Given the description of an element on the screen output the (x, y) to click on. 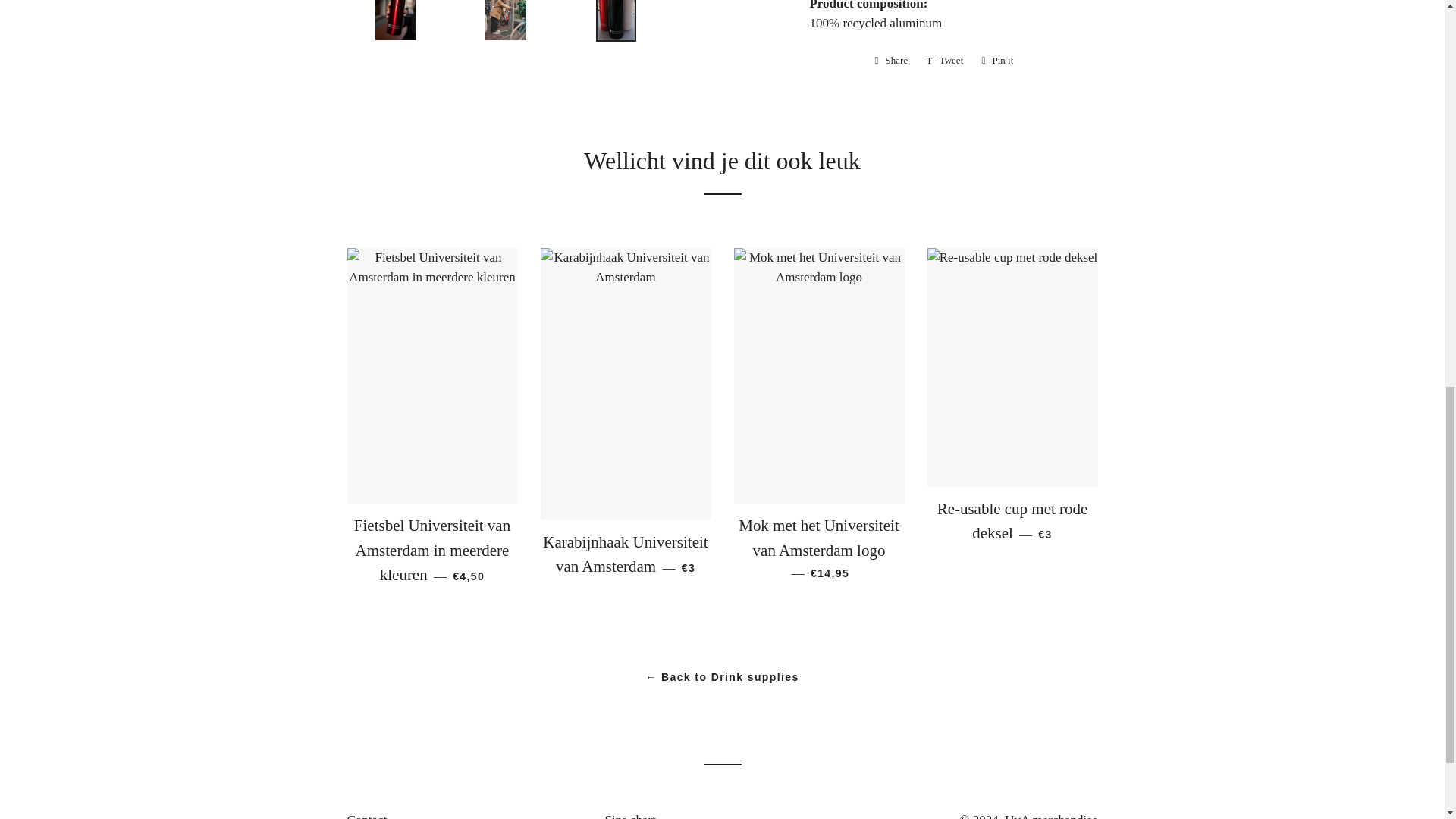
Pin on Pinterest (997, 60)
Tweet on Twitter (944, 60)
Share on Facebook (891, 60)
